Given the description of an element on the screen output the (x, y) to click on. 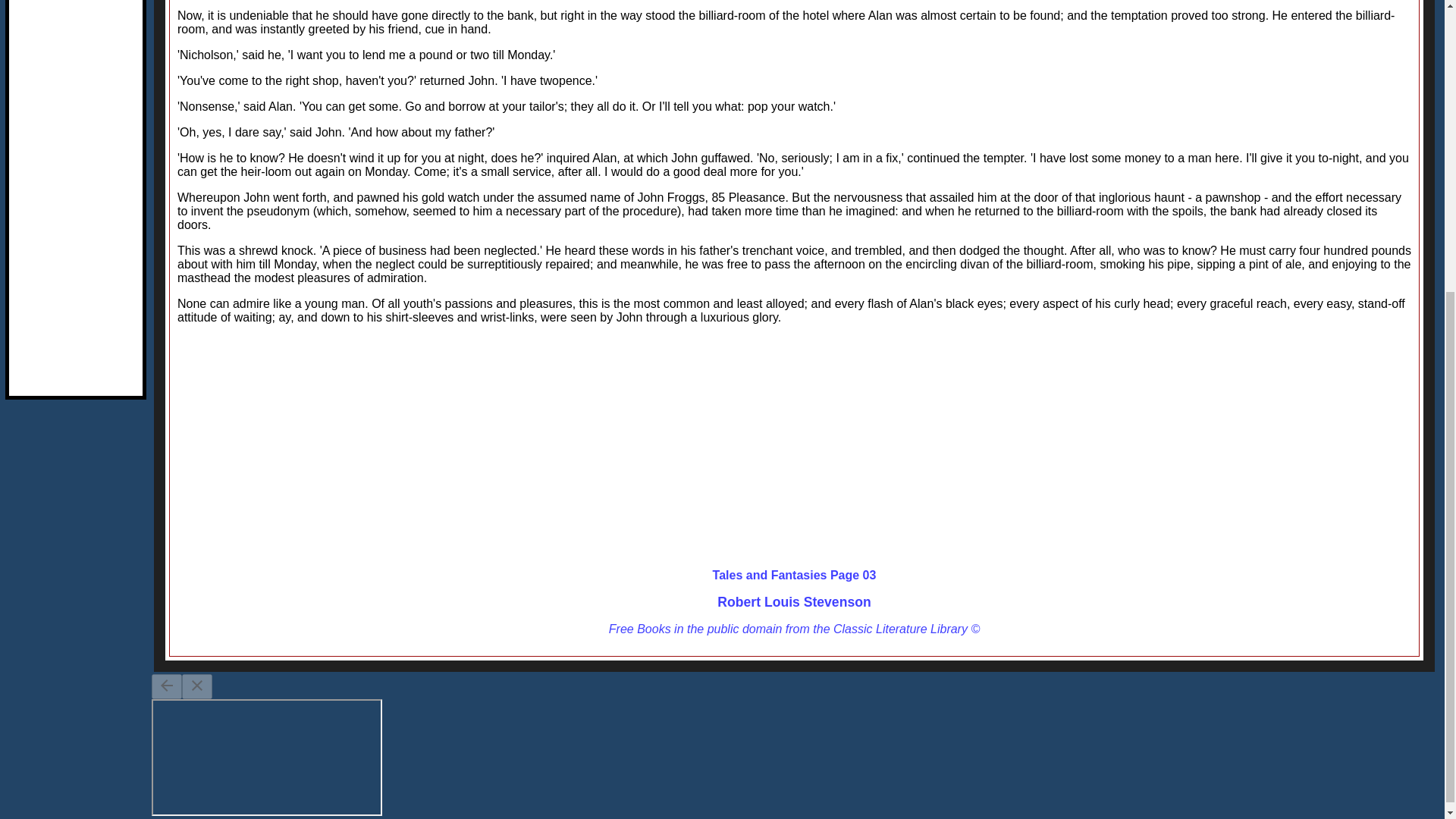
Tales and Fantasies Page 03 (794, 574)
Robert Louis Stevenson (793, 601)
